Given the description of an element on the screen output the (x, y) to click on. 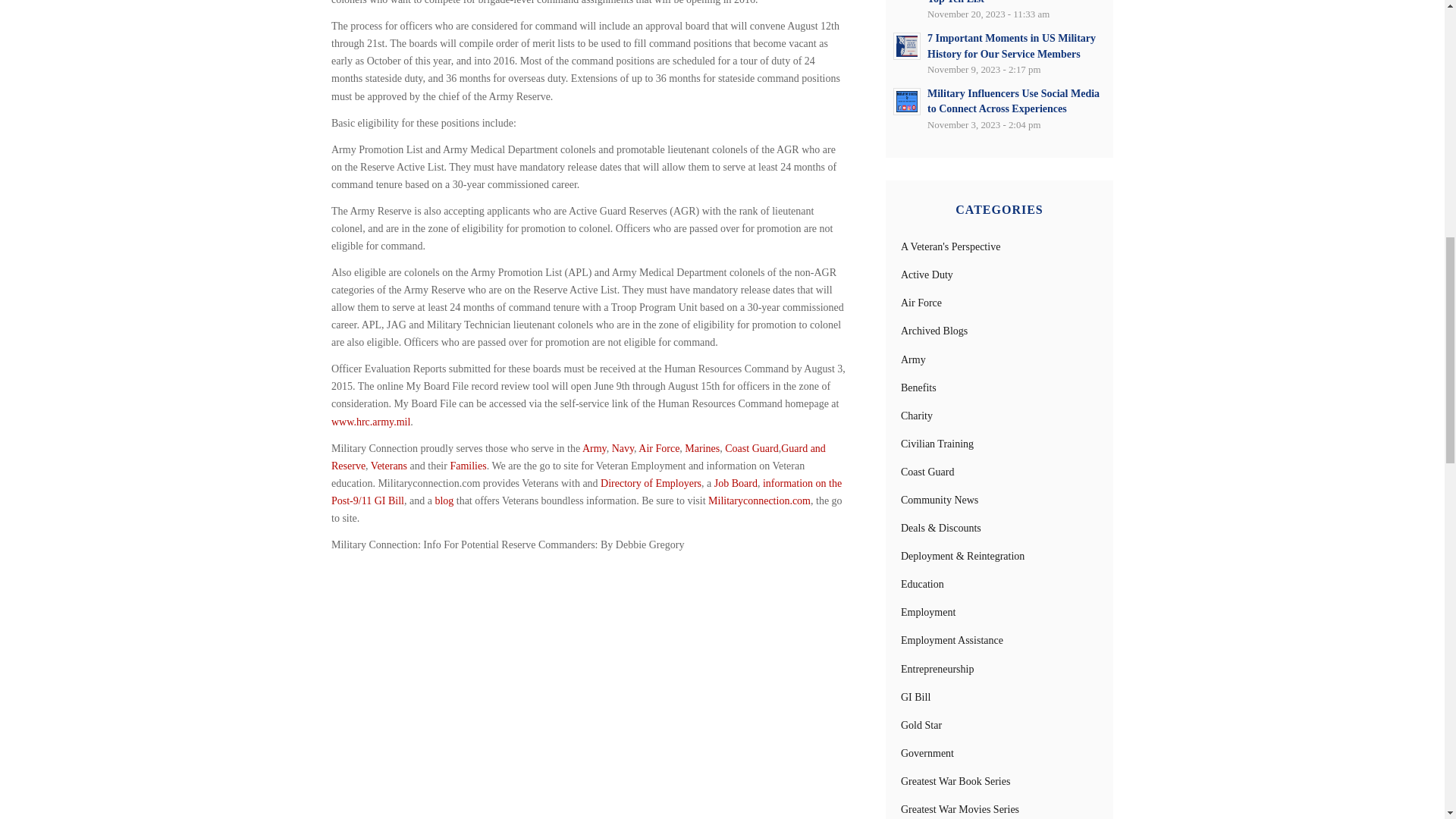
www.hrc.army.mil (370, 421)
Army (594, 448)
Veterans (389, 465)
Directory of Employers (650, 482)
A Veteran's Perspective (950, 246)
Families (467, 465)
Navy (622, 448)
Marines (701, 448)
Active Duty (927, 274)
Militaryconnection.com (758, 500)
Guard and Reserve (578, 457)
Job Board (735, 482)
